Given the description of an element on the screen output the (x, y) to click on. 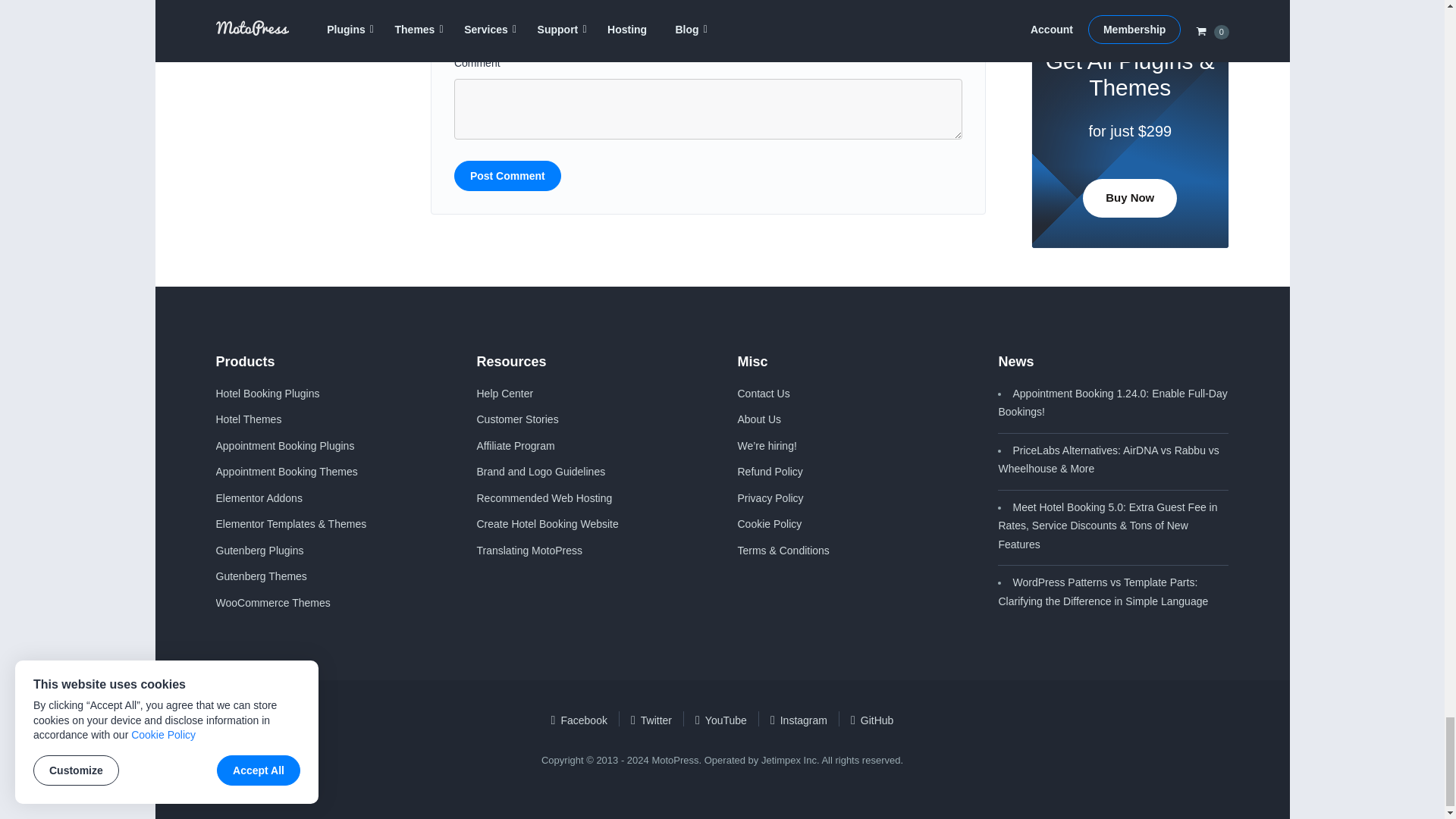
Post Comment (507, 175)
